Given the description of an element on the screen output the (x, y) to click on. 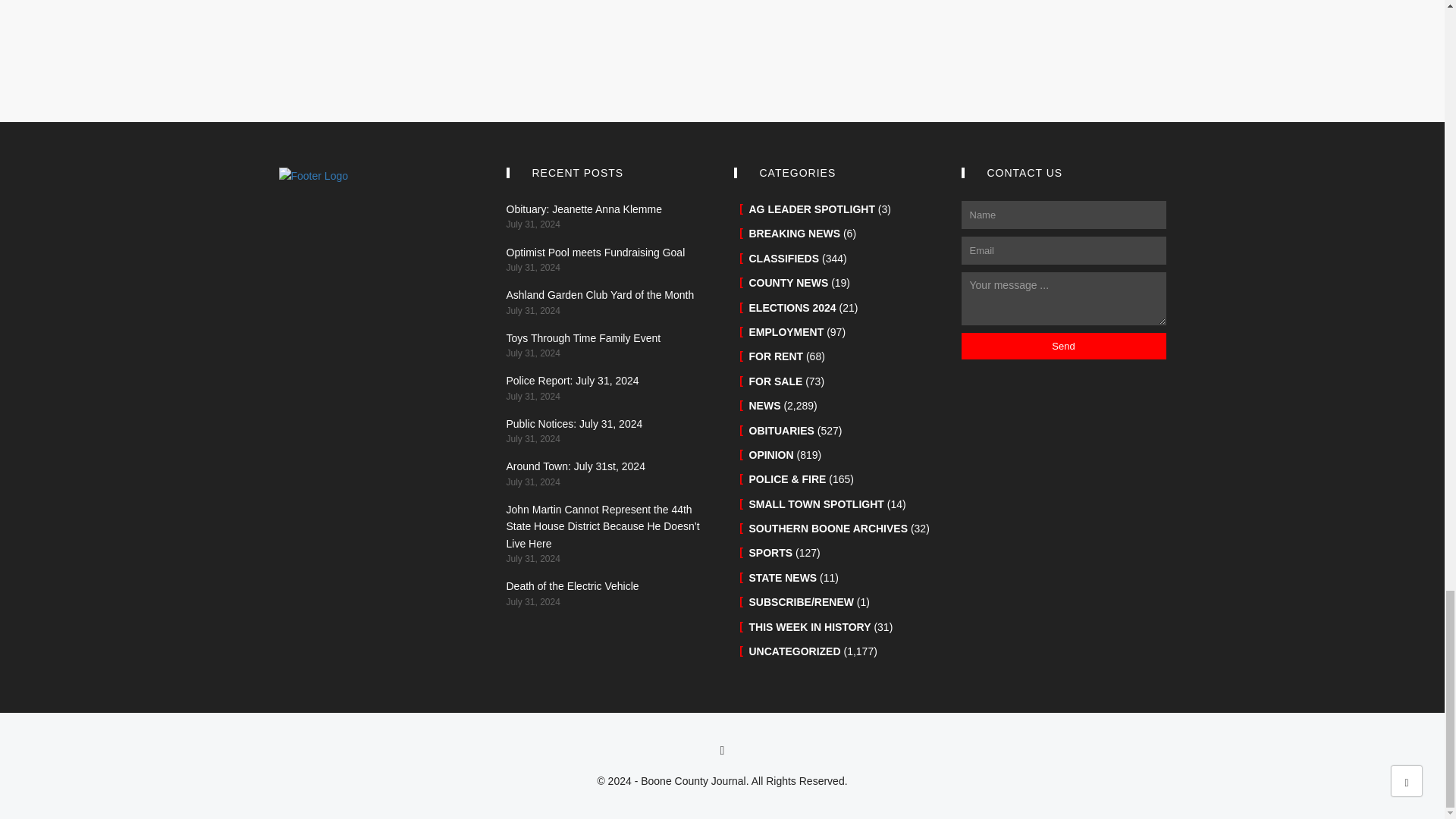
Send (1063, 345)
